Given the description of an element on the screen output the (x, y) to click on. 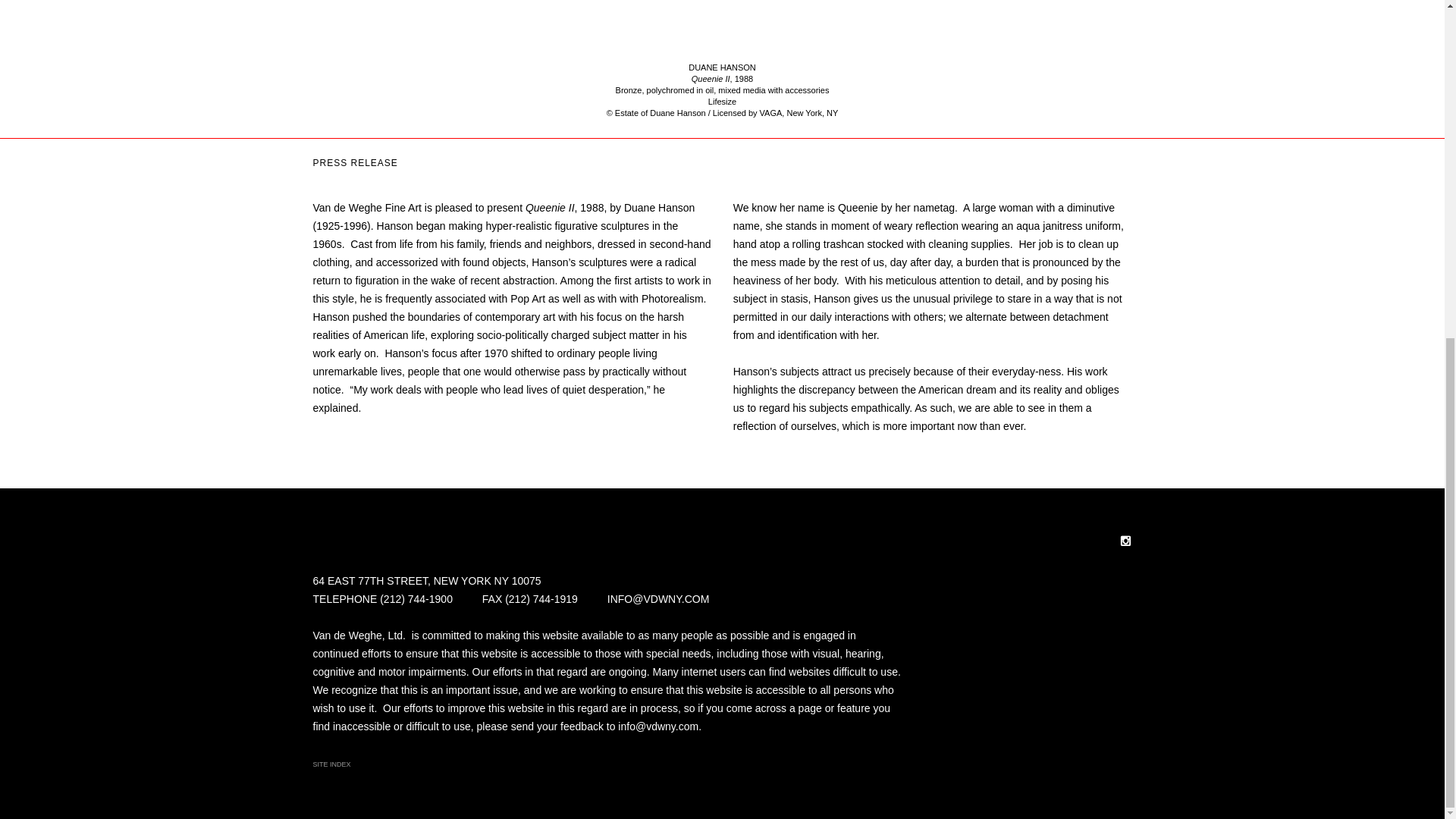
SITE INDEX (331, 764)
